Given the description of an element on the screen output the (x, y) to click on. 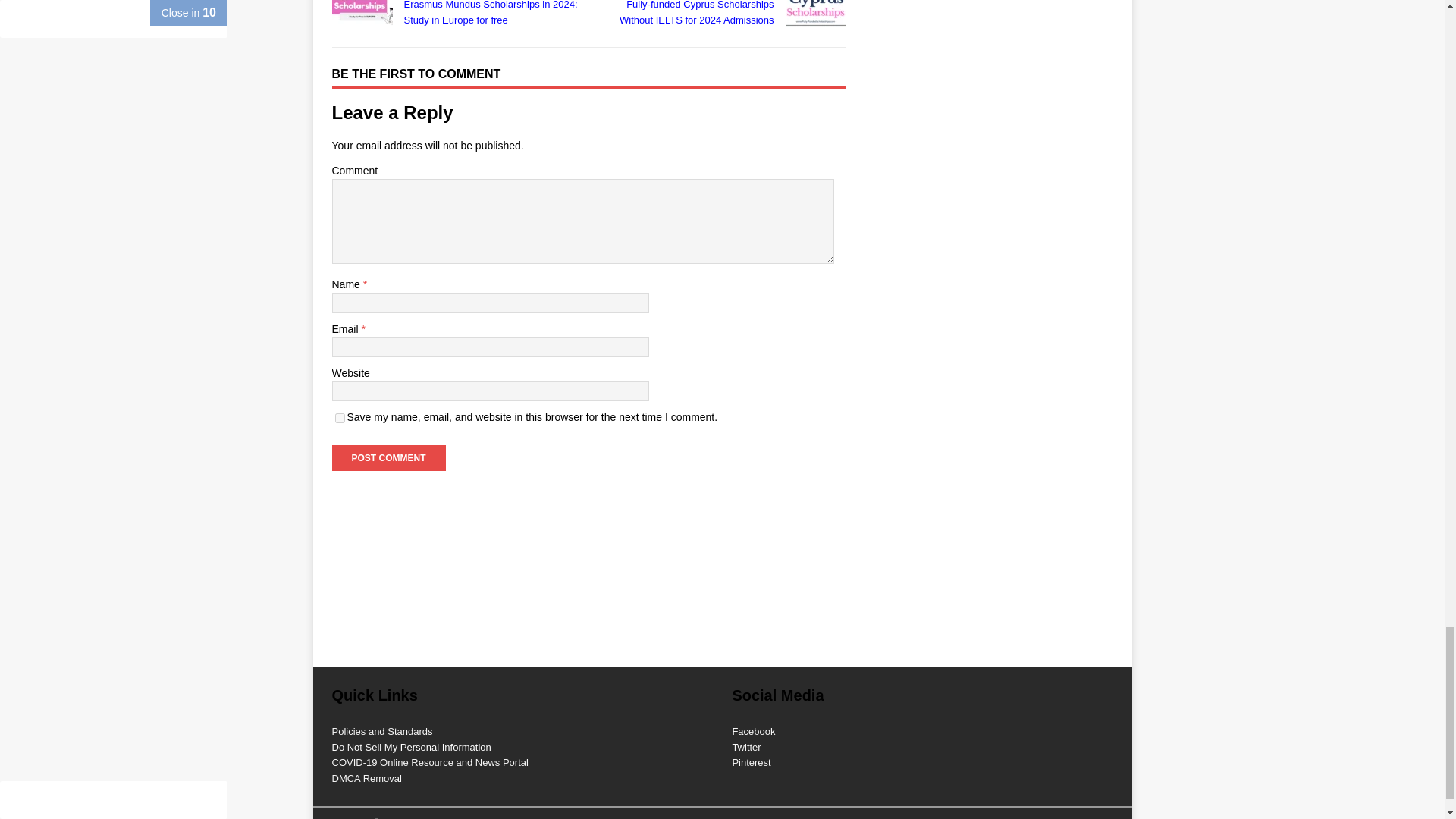
yes (339, 418)
Post Comment (388, 457)
Post Comment (388, 457)
